Given the description of an element on the screen output the (x, y) to click on. 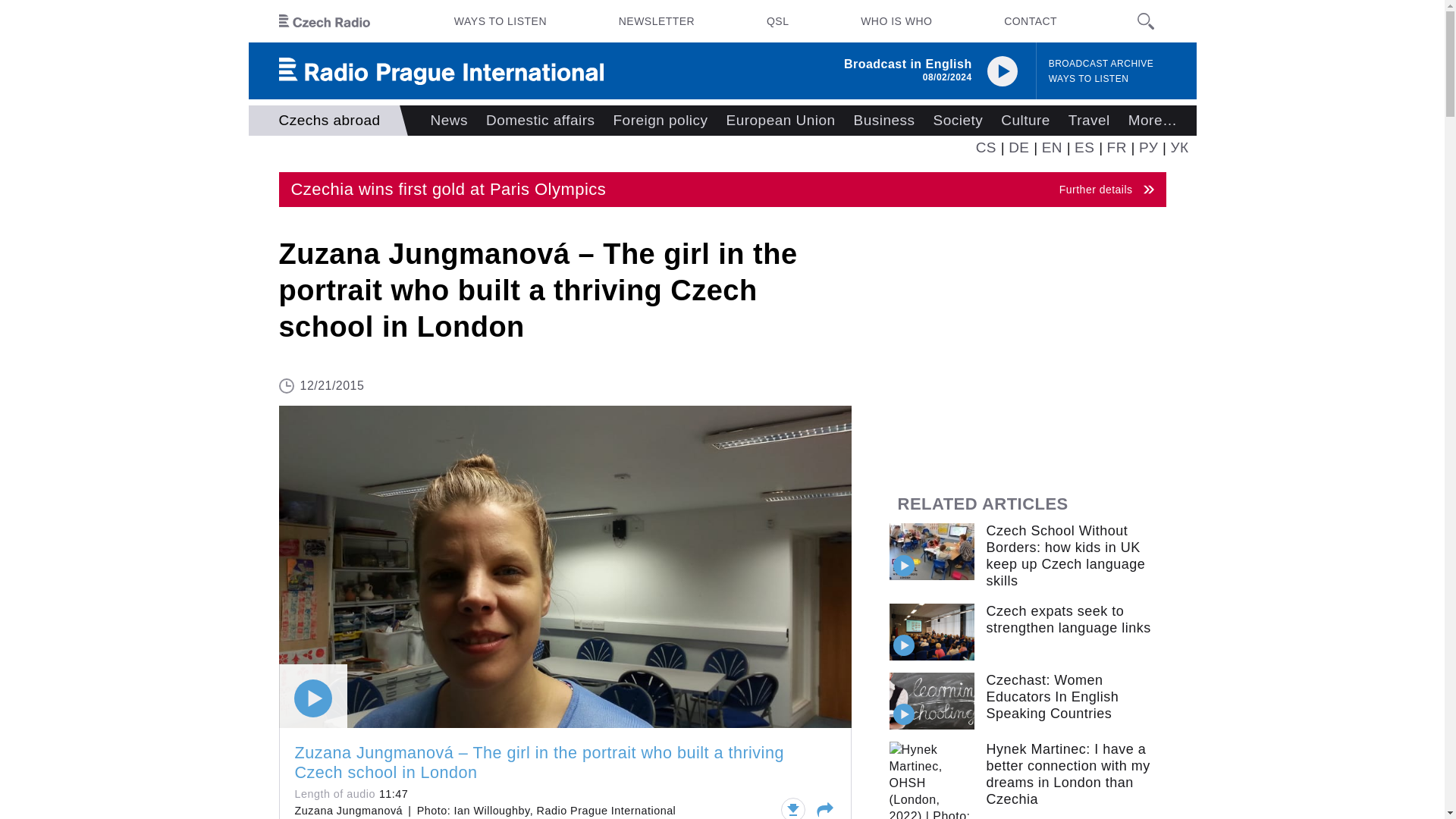
NEWSLETTER (656, 21)
ES (1084, 147)
Travel (1089, 120)
Czech Radio (324, 21)
Foreign policy (660, 120)
FR (1116, 147)
WAYS TO LISTEN (1088, 78)
DE (1019, 147)
WHO IS WHO (896, 21)
CS (985, 147)
CONTACT (1029, 21)
Broadcast in English  (908, 63)
EN (722, 189)
Culture (1052, 147)
